Given the description of an element on the screen output the (x, y) to click on. 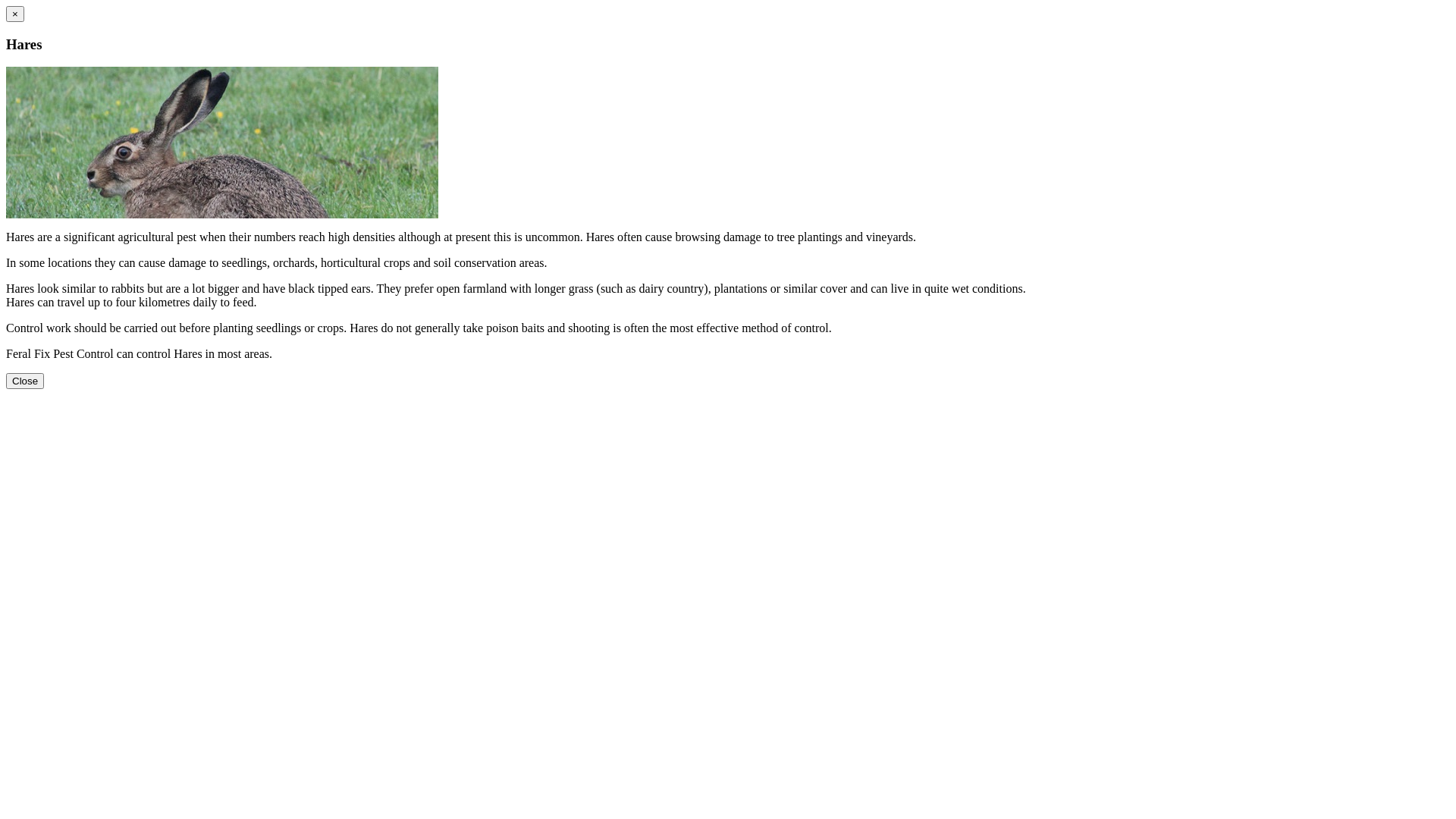
Close Element type: text (24, 381)
